Given the description of an element on the screen output the (x, y) to click on. 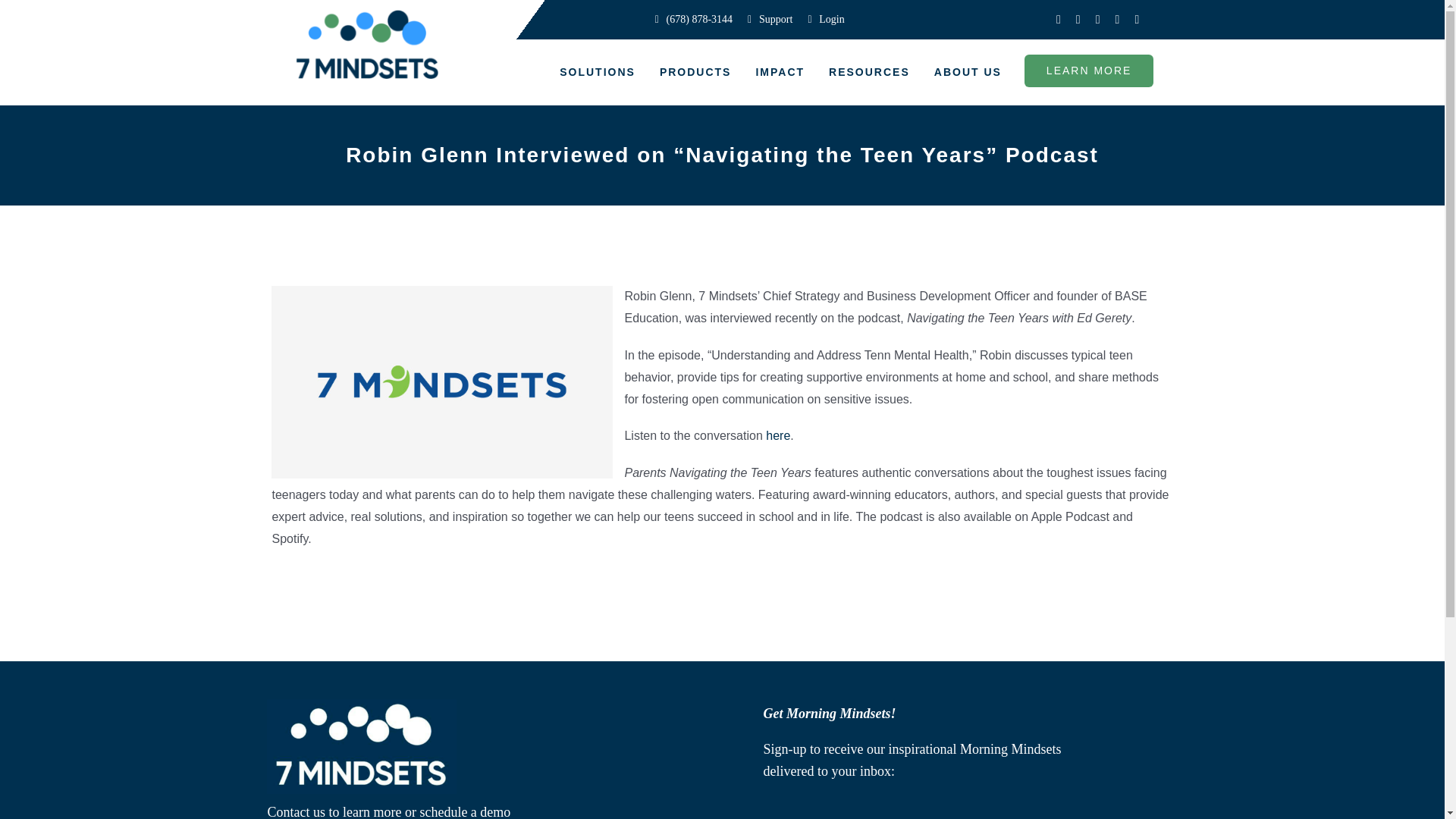
SOLUTIONS (597, 72)
IMPACT (780, 72)
Login (825, 19)
Form 0 (921, 804)
RESOURCES (869, 72)
PRODUCTS (695, 72)
Support (770, 19)
